Given the description of an element on the screen output the (x, y) to click on. 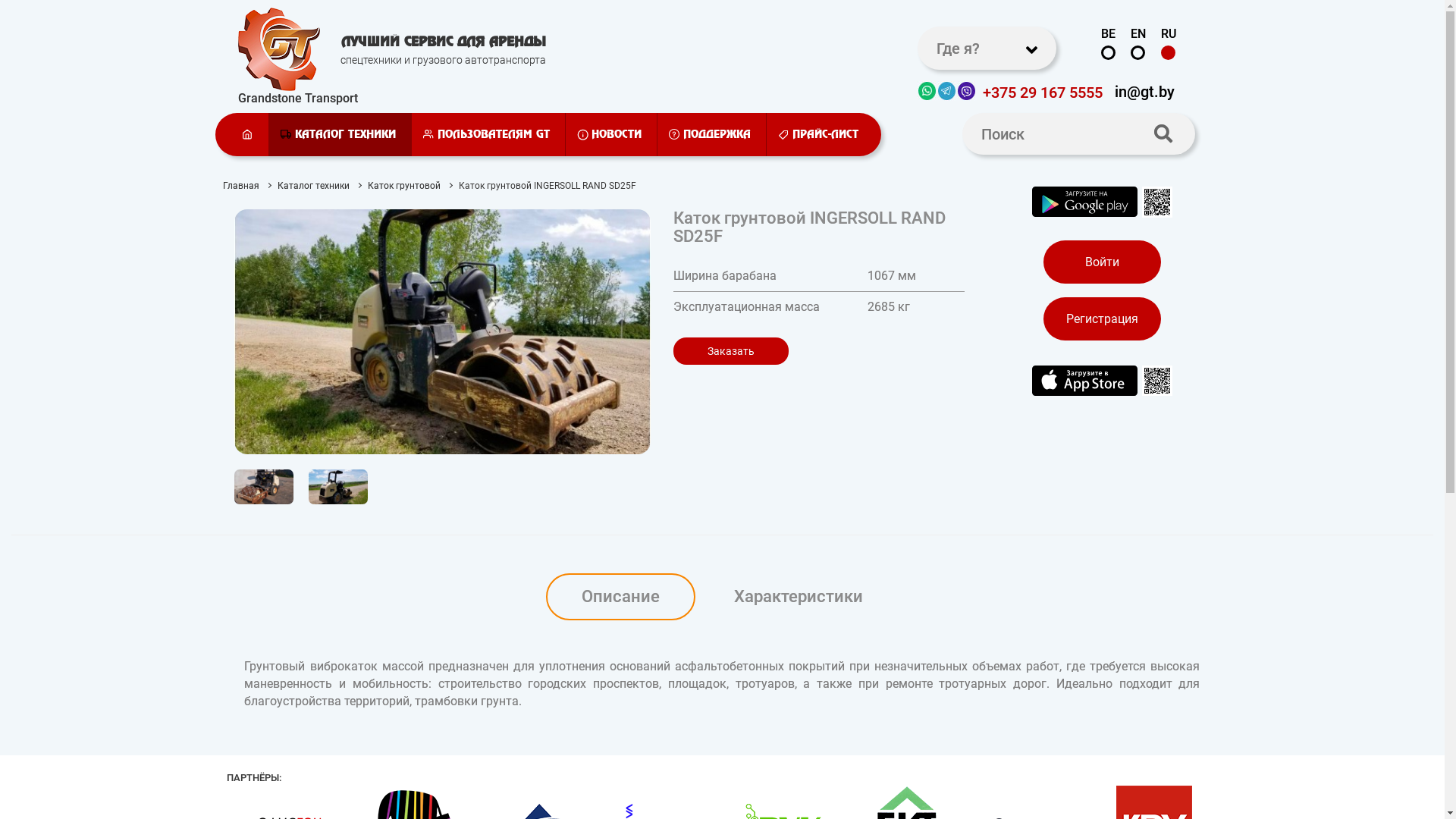
+375 29 167 5555 Element type: text (1042, 90)
in@gt.by Element type: text (1144, 90)
GT.BY Element type: hover (279, 49)
